Given the description of an element on the screen output the (x, y) to click on. 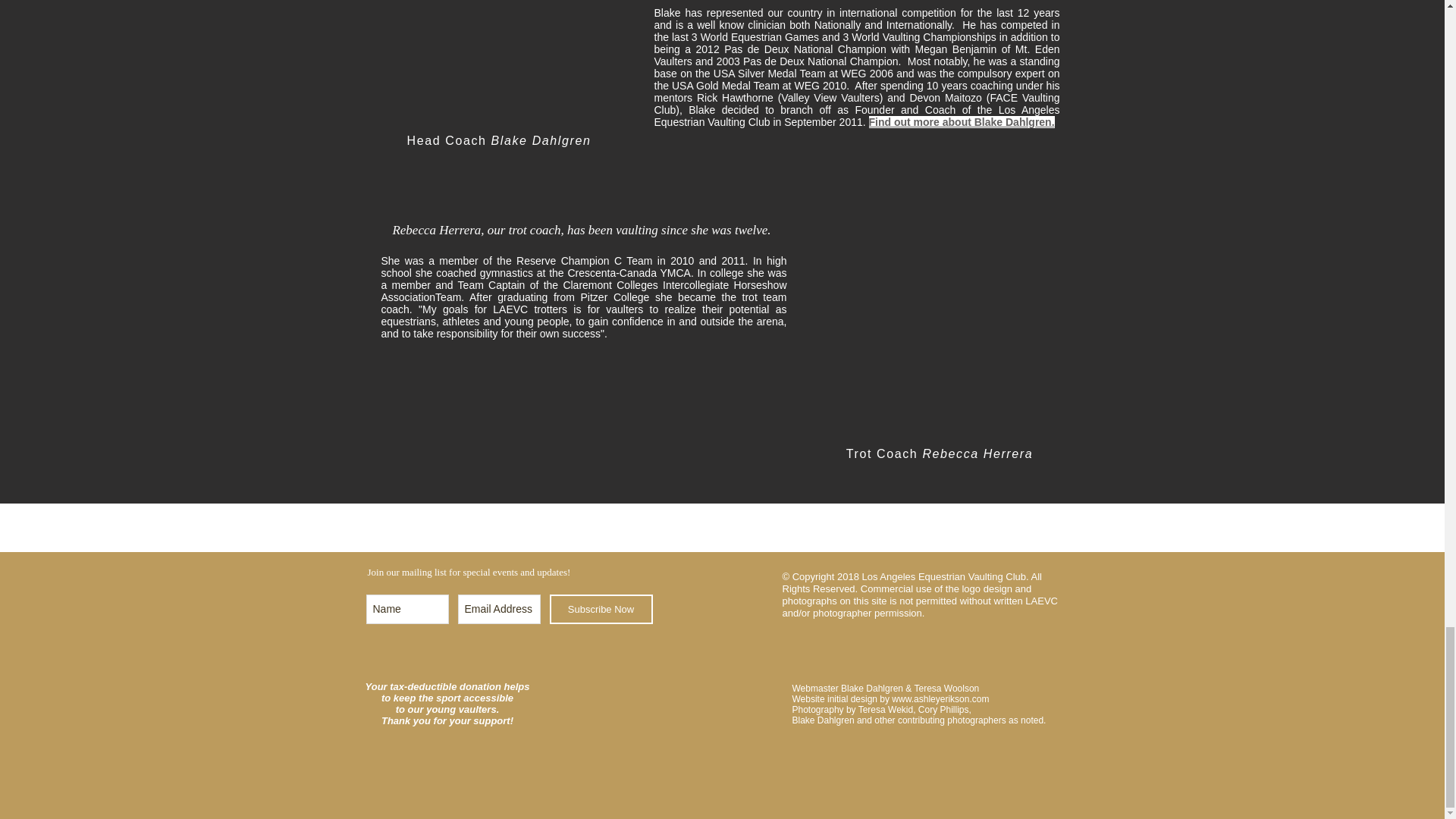
Subscribe Now (600, 609)
Find out more about Blake Dahlgren. (961, 121)
www.ashleyerikson.com (939, 698)
